Given the description of an element on the screen output the (x, y) to click on. 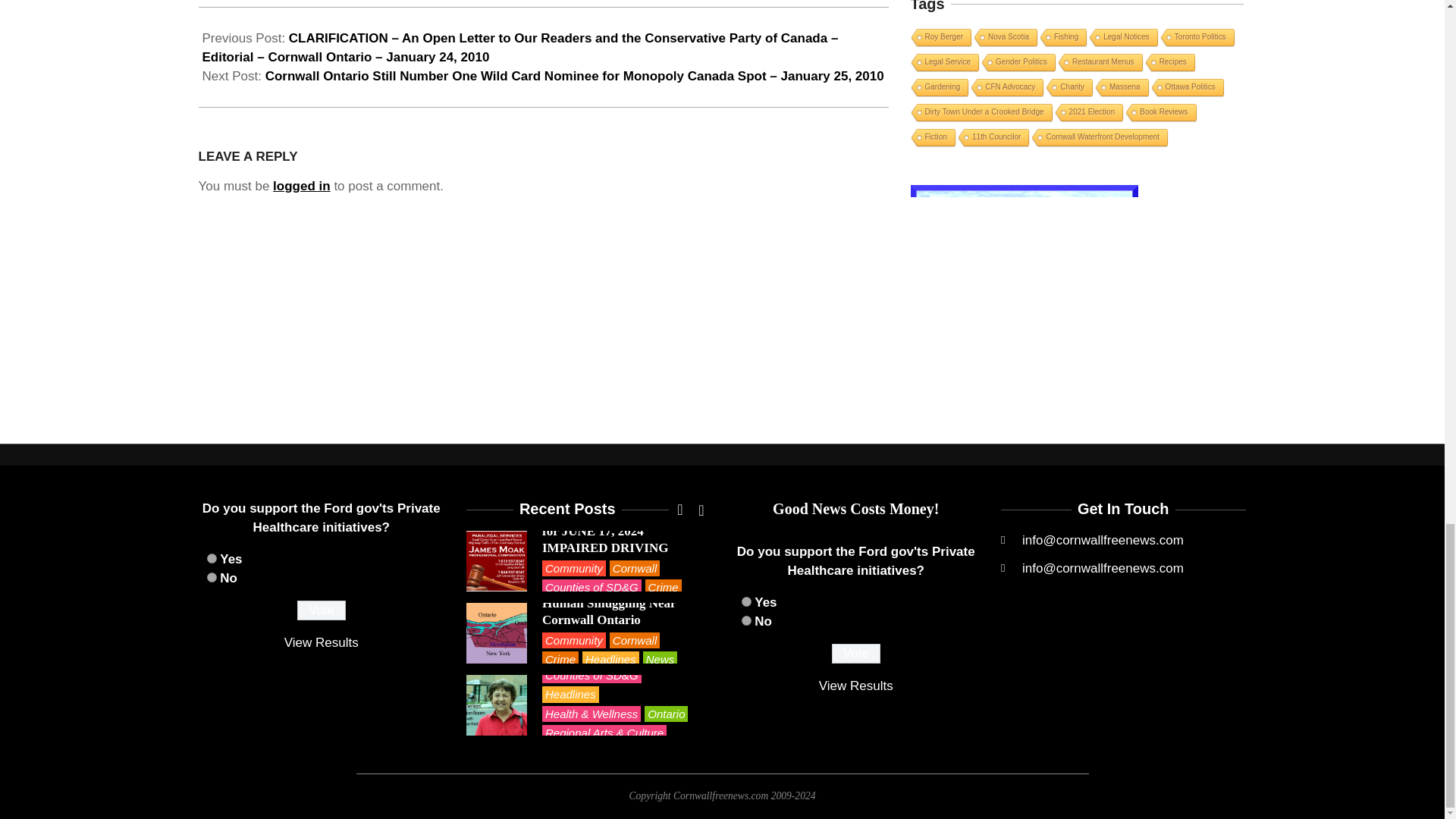
1777 (210, 577)
View Results Of This Poll (855, 685)
View Results Of This Poll (320, 642)
1776 (210, 558)
1777 (746, 620)
   Vote    (321, 609)
1776 (746, 601)
   Vote    (855, 653)
